Given the description of an element on the screen output the (x, y) to click on. 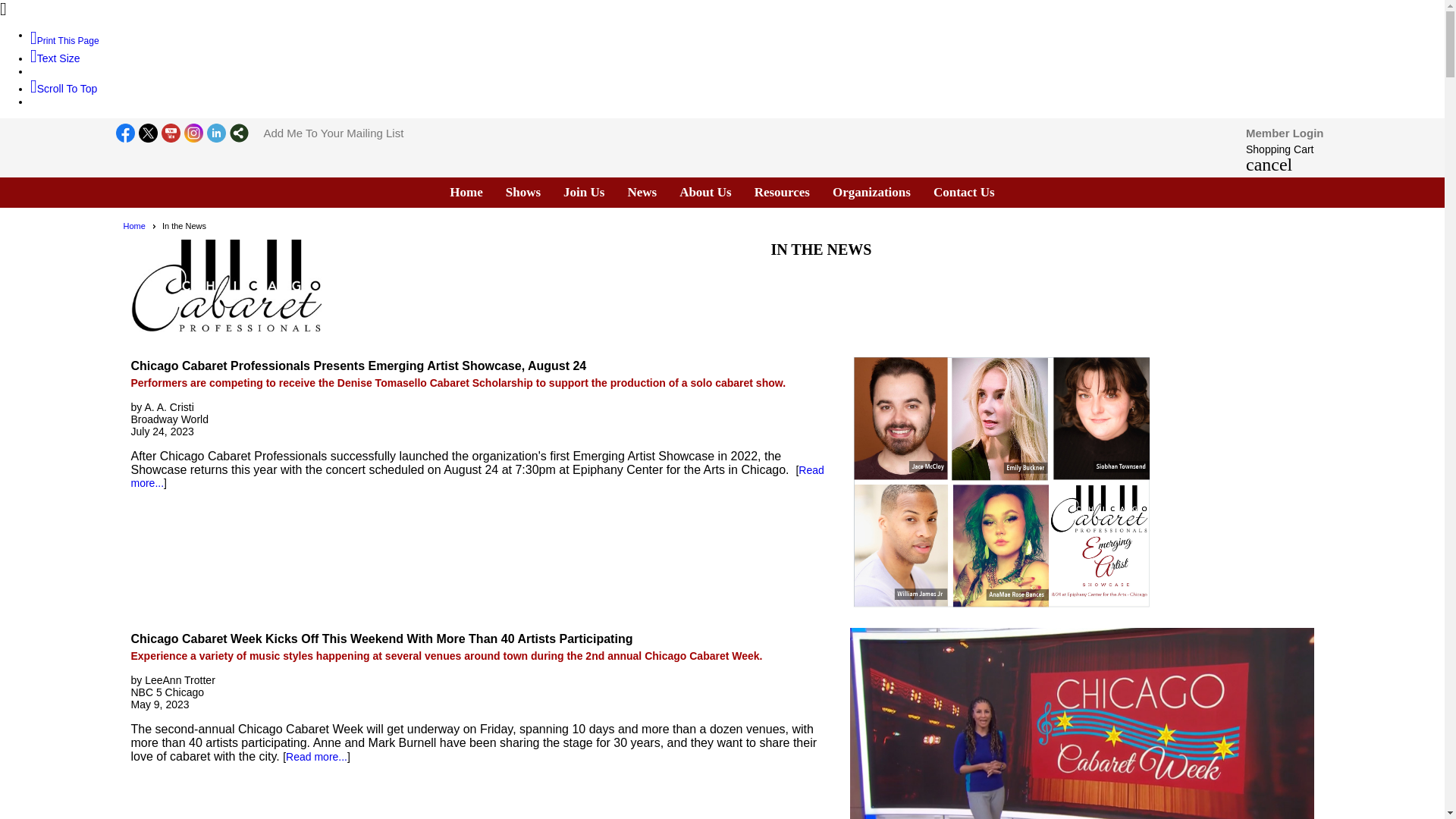
Add Me To Your Mailing List (333, 132)
Member Login (1284, 132)
Visit us on X (147, 133)
Home (138, 225)
Print (64, 40)
Organizations (871, 192)
Go To Top (63, 88)
Text Size (55, 58)
Visit us on Facebook (124, 133)
Visit us on Instagram (192, 133)
Click here for more sharing options (237, 132)
Home (465, 192)
Visit us on YouTube (169, 133)
Visit us on LinkedIn (215, 133)
cancel (1269, 166)
